Given the description of an element on the screen output the (x, y) to click on. 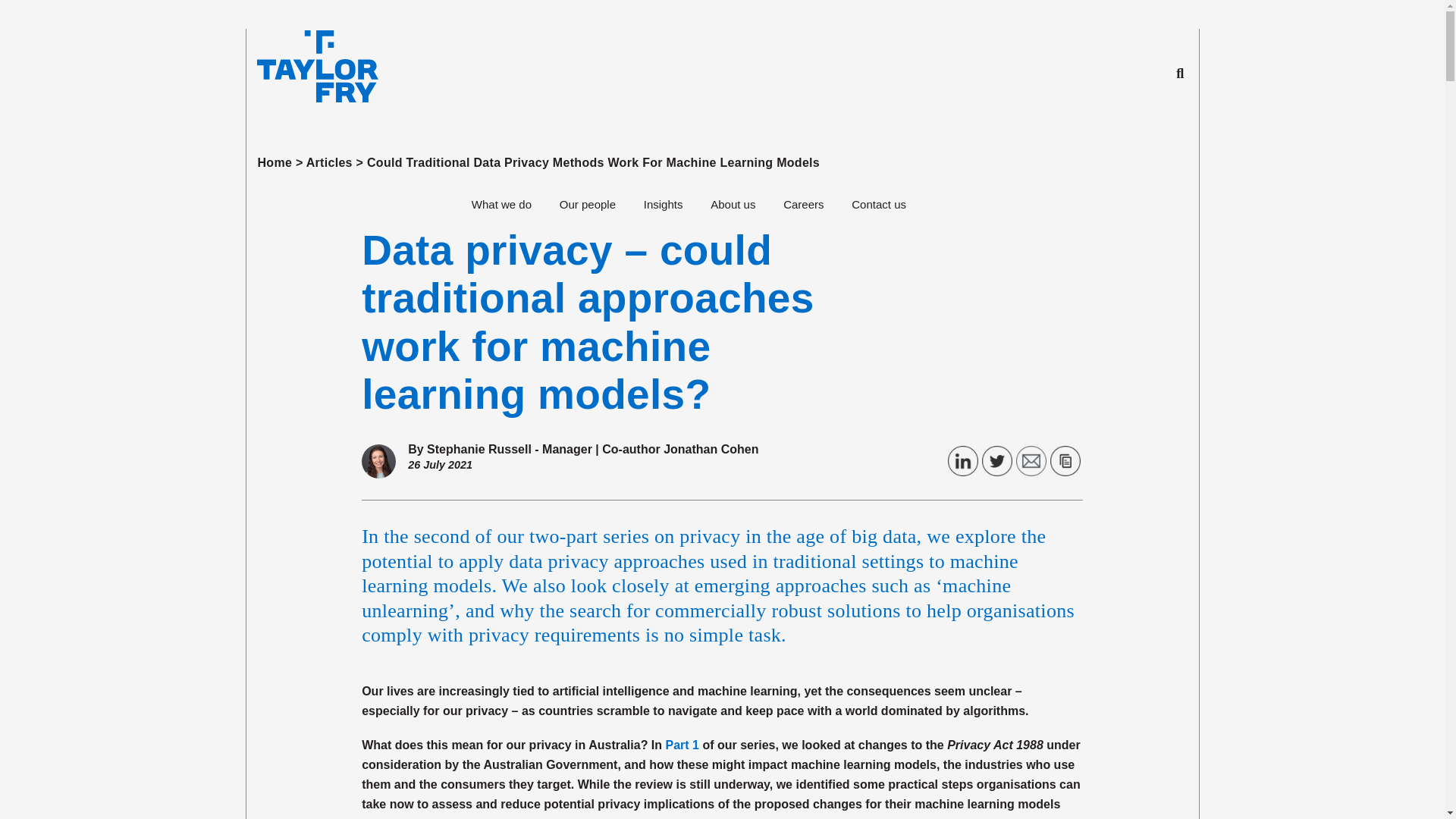
Taylor Fry (312, 69)
Share on LinkedIn (962, 460)
Taylor Fry (316, 66)
Share on Twitter (996, 460)
Share by Email (1031, 460)
Copy Link (1064, 460)
